Given the description of an element on the screen output the (x, y) to click on. 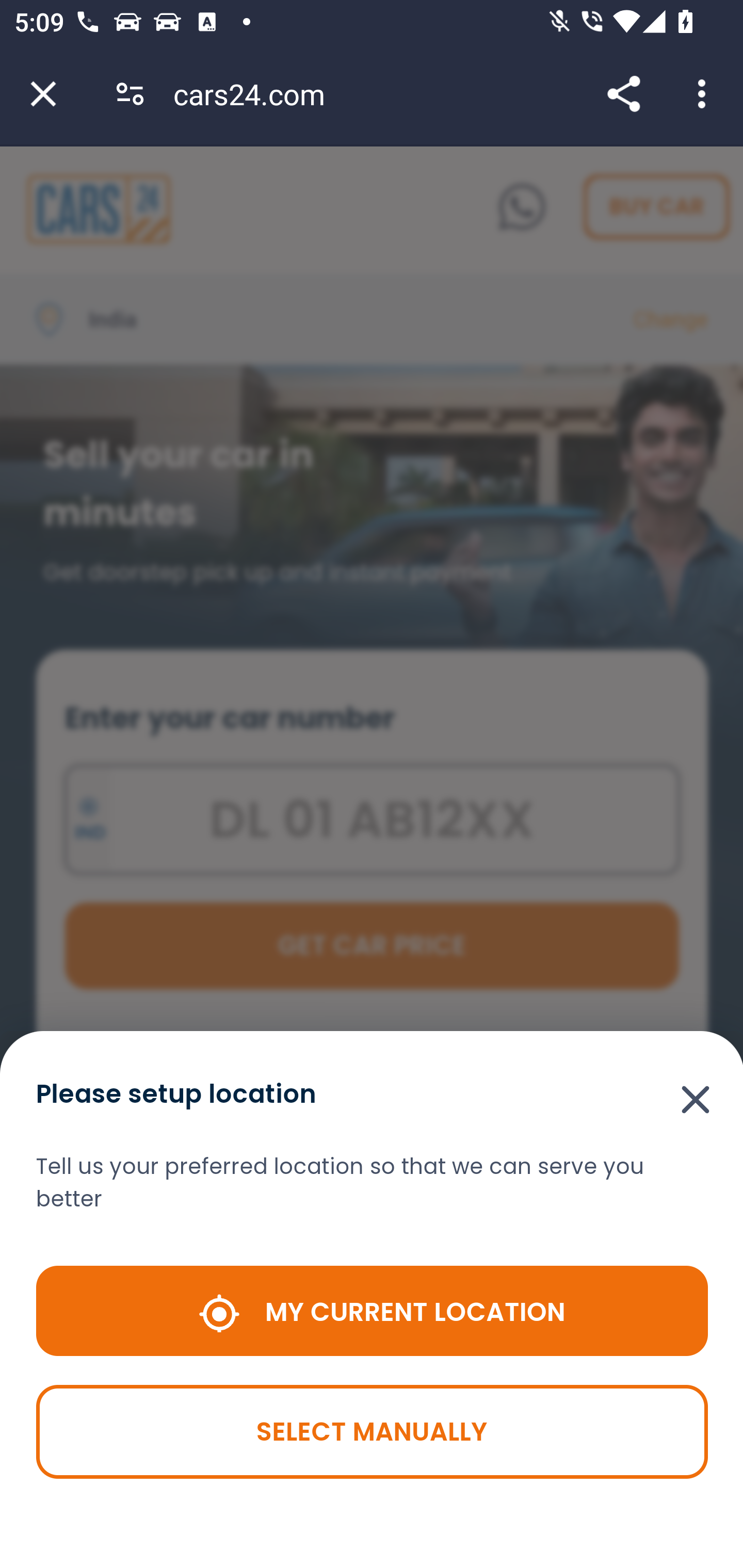
Close tab (43, 93)
Share (623, 93)
Customize and control Google Chrome (705, 93)
Connection is secure (129, 93)
cars24.com (256, 93)
